Given the description of an element on the screen output the (x, y) to click on. 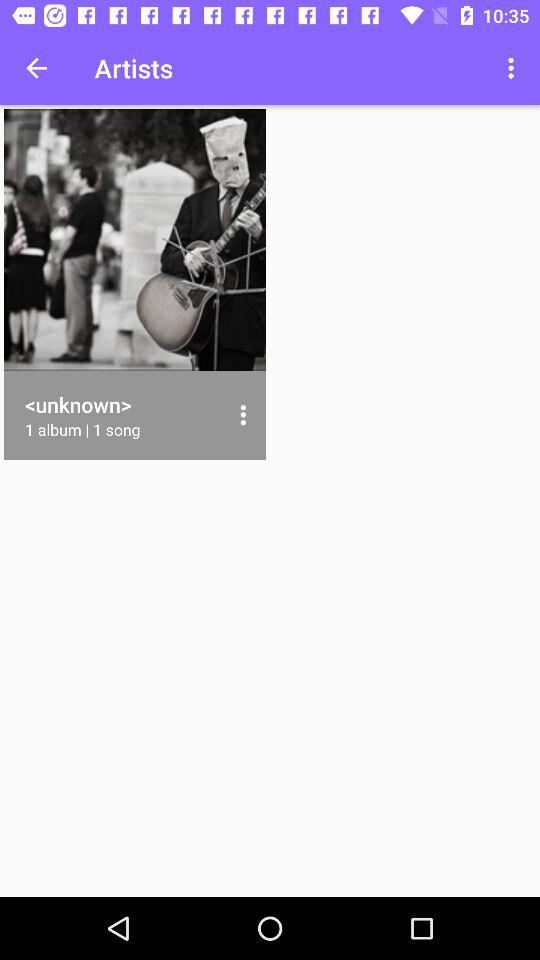
press icon to the right of the 1 album 1 (242, 415)
